Given the description of an element on the screen output the (x, y) to click on. 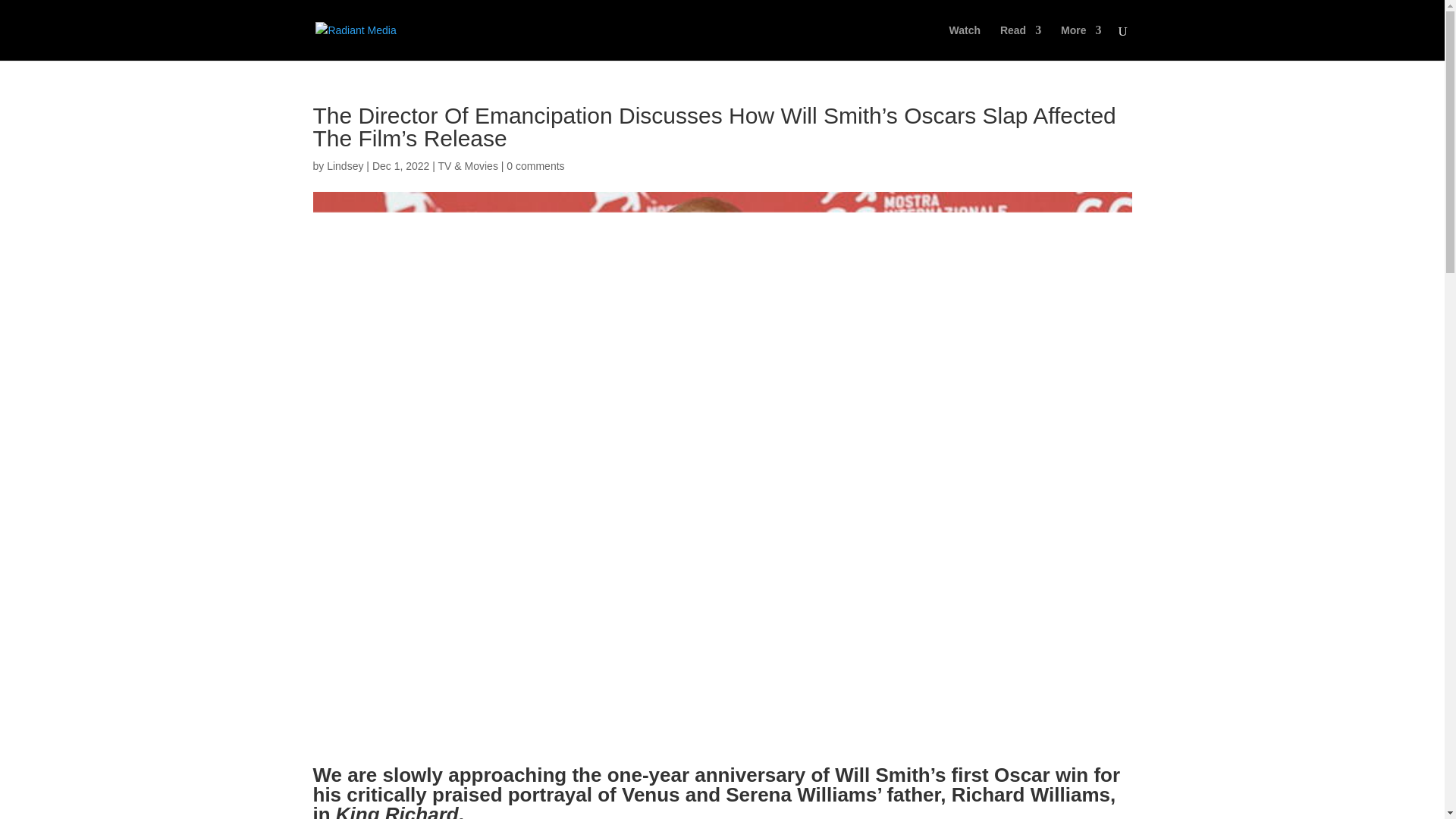
0 comments (535, 165)
More (1080, 42)
Lindsey (344, 165)
Read (1020, 42)
Posts by Lindsey (344, 165)
